Given the description of an element on the screen output the (x, y) to click on. 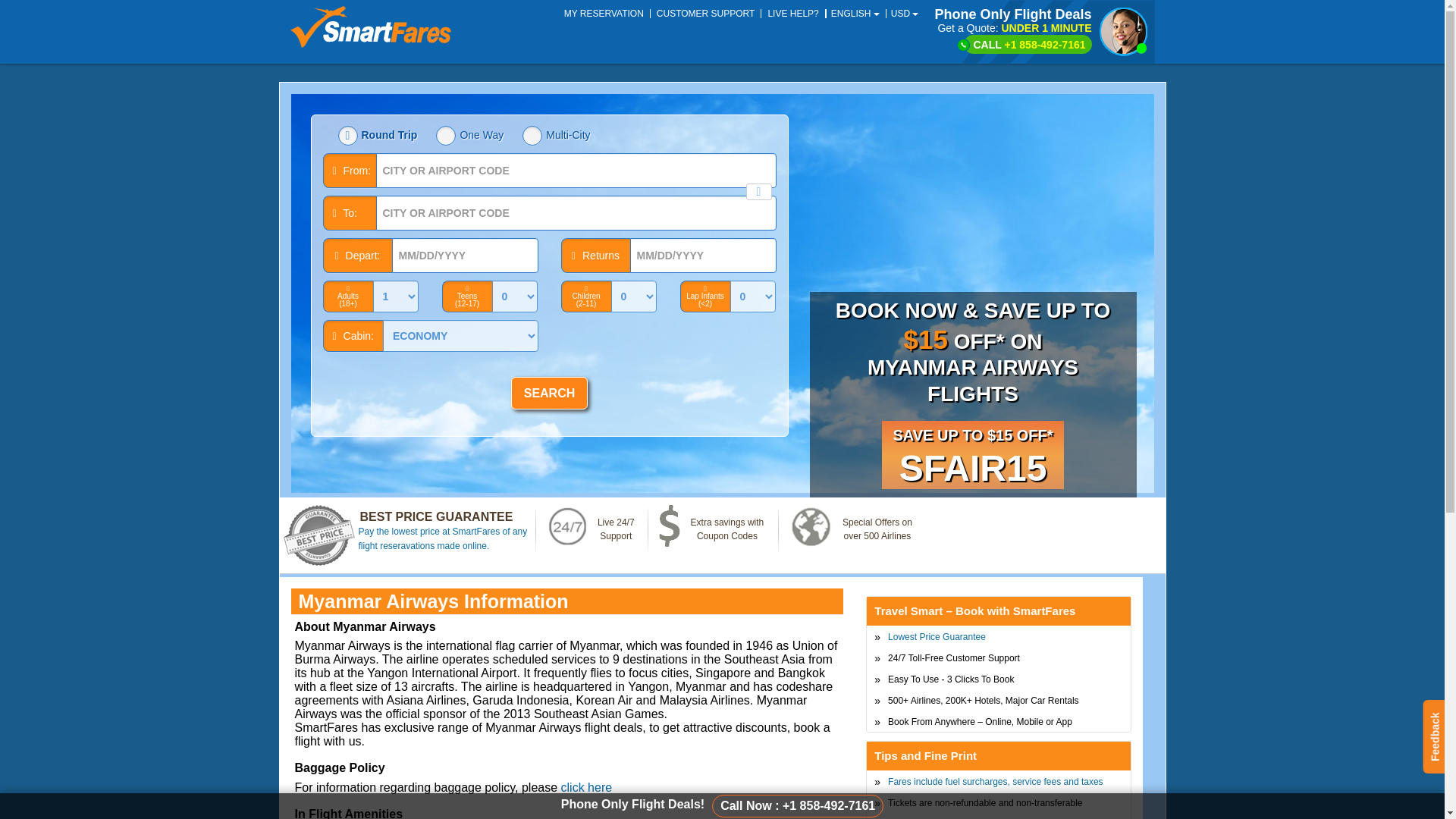
Opens a widget where you can chat to one of our agents (1385, 792)
Search (549, 392)
ENGLISH (854, 13)
USD (904, 13)
